Given the description of an element on the screen output the (x, y) to click on. 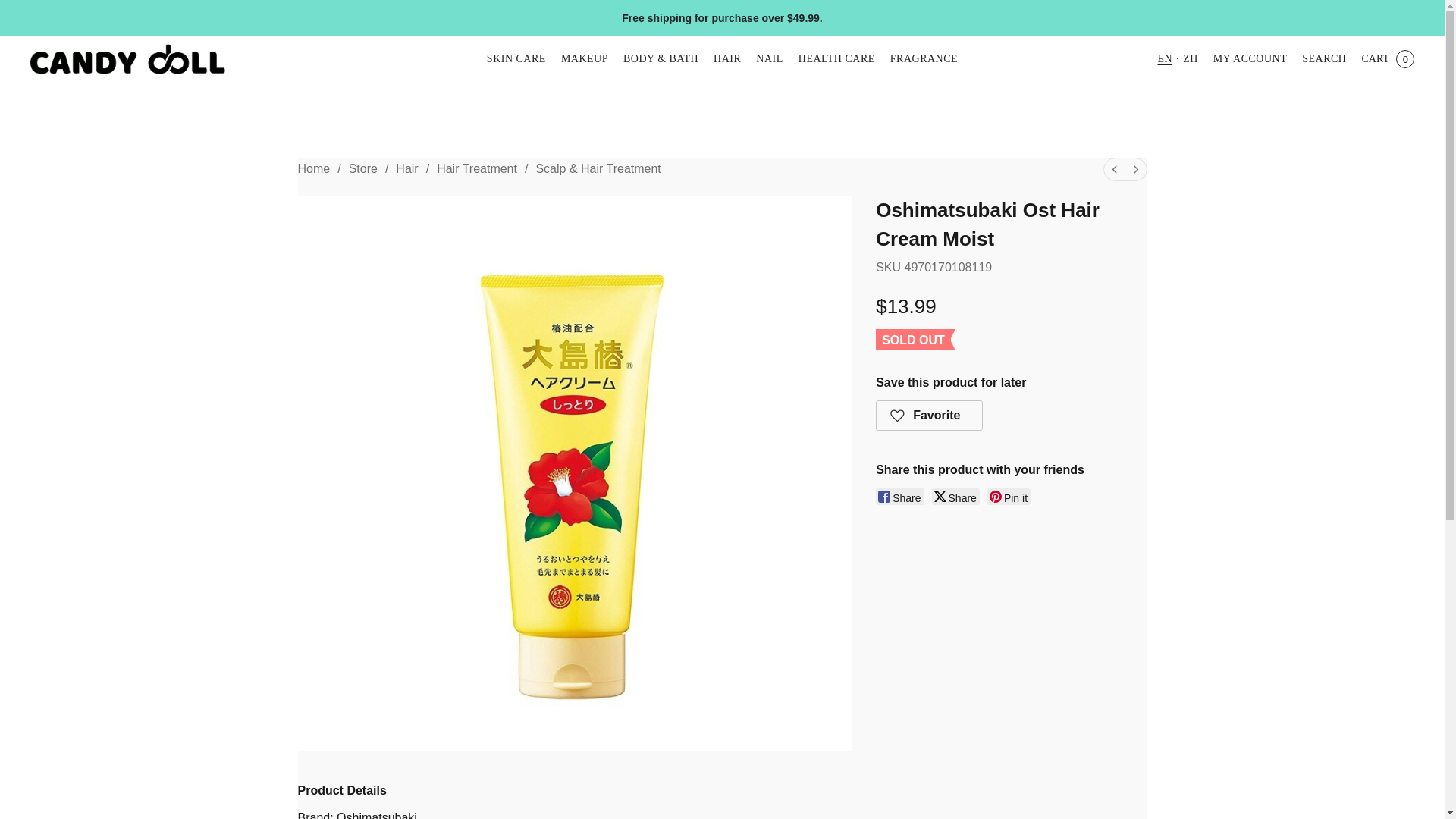
MY ACCOUNT (1250, 59)
Go to your shopping cart (1387, 59)
Share (955, 496)
Search the website (1323, 59)
HAIR (727, 59)
Hair Treatment (476, 168)
Favorite (929, 415)
Store (363, 168)
SEARCH (1323, 59)
NAIL (769, 59)
Home (313, 168)
Pin it (1008, 496)
CART (1387, 59)
FRAGRANCE (920, 59)
